Given the description of an element on the screen output the (x, y) to click on. 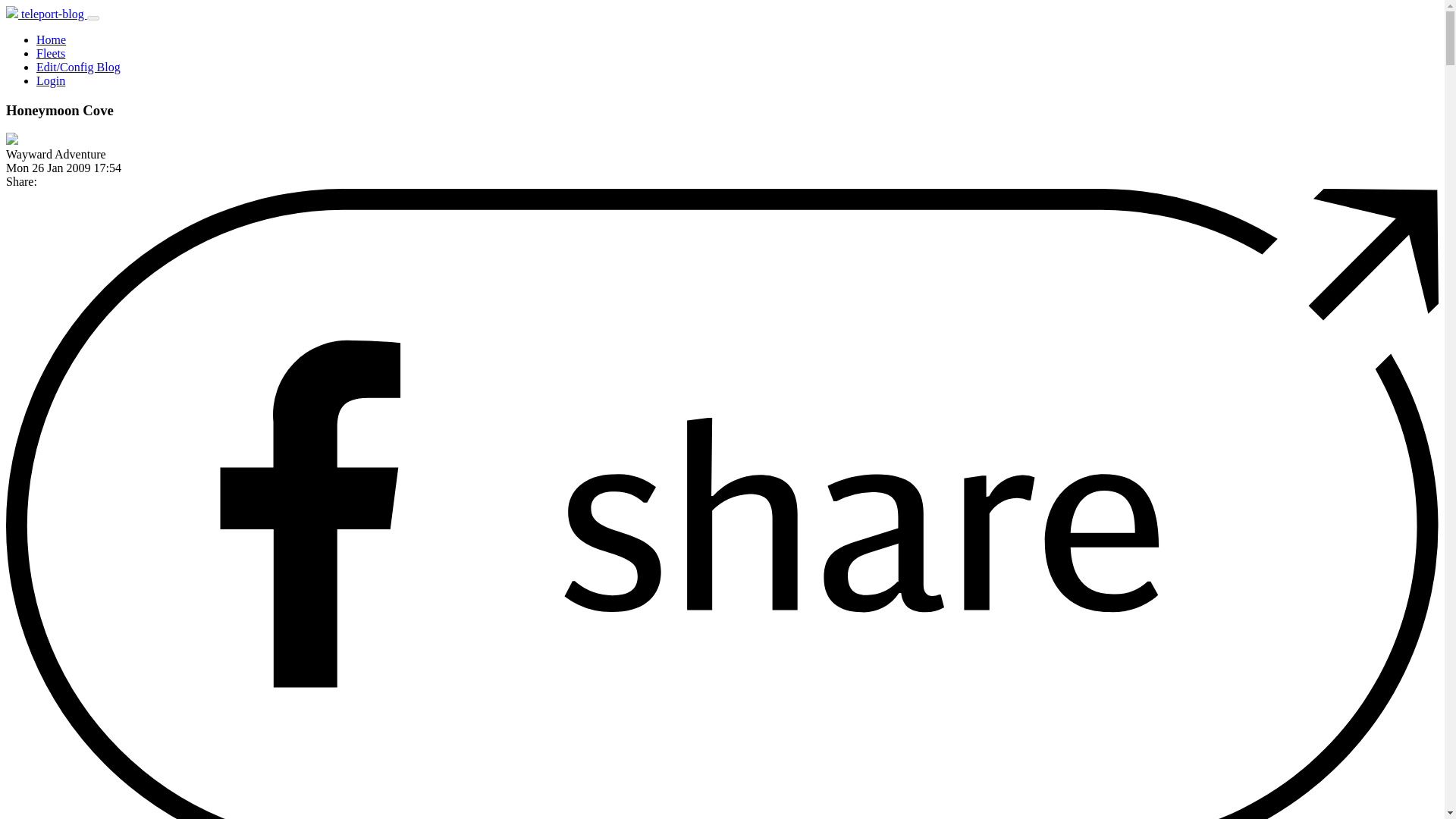
teleport-blog (46, 13)
Home (50, 39)
Login (50, 80)
Fleets (50, 52)
